Given the description of an element on the screen output the (x, y) to click on. 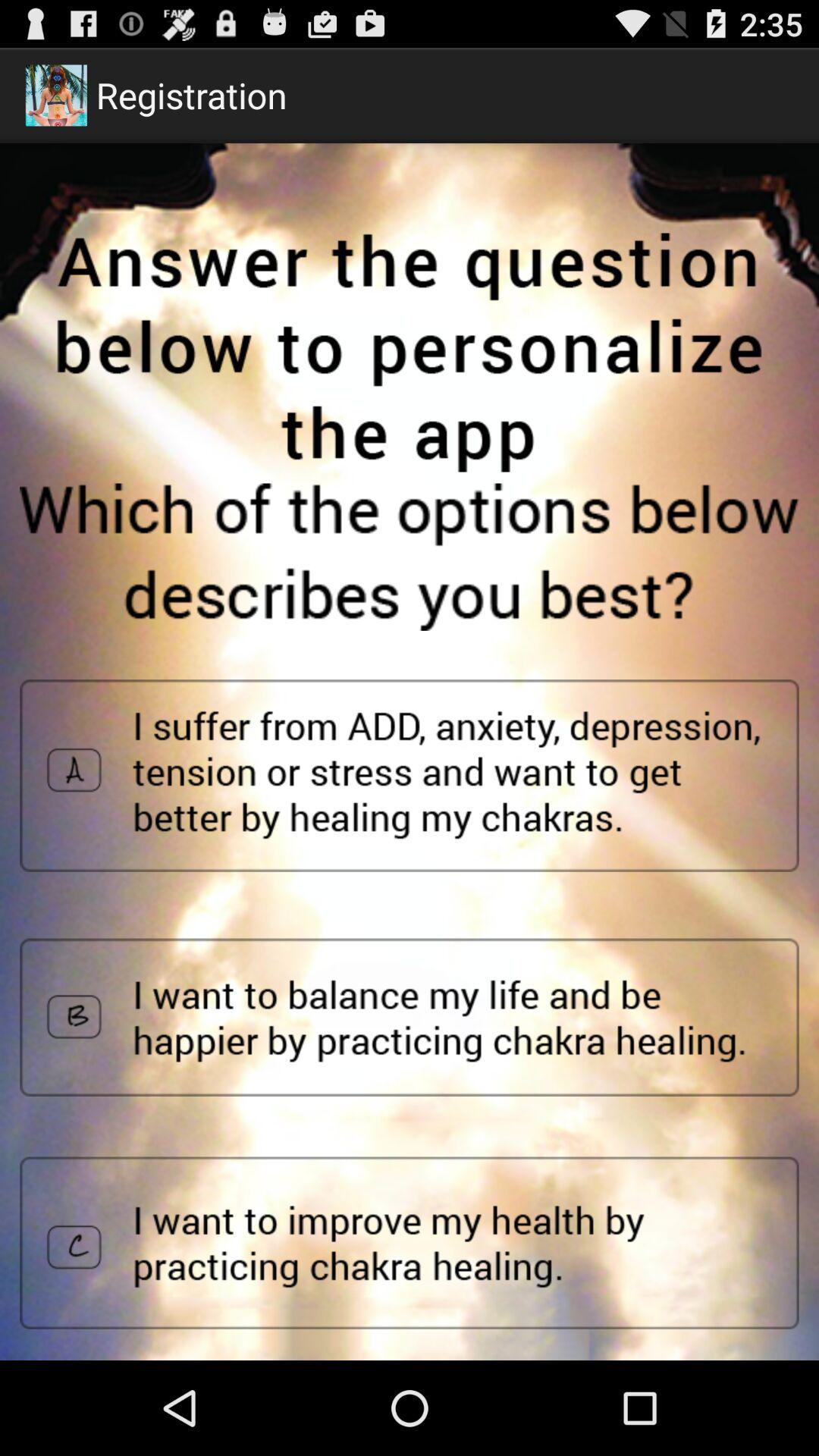
improve my health option (409, 1242)
